Given the description of an element on the screen output the (x, y) to click on. 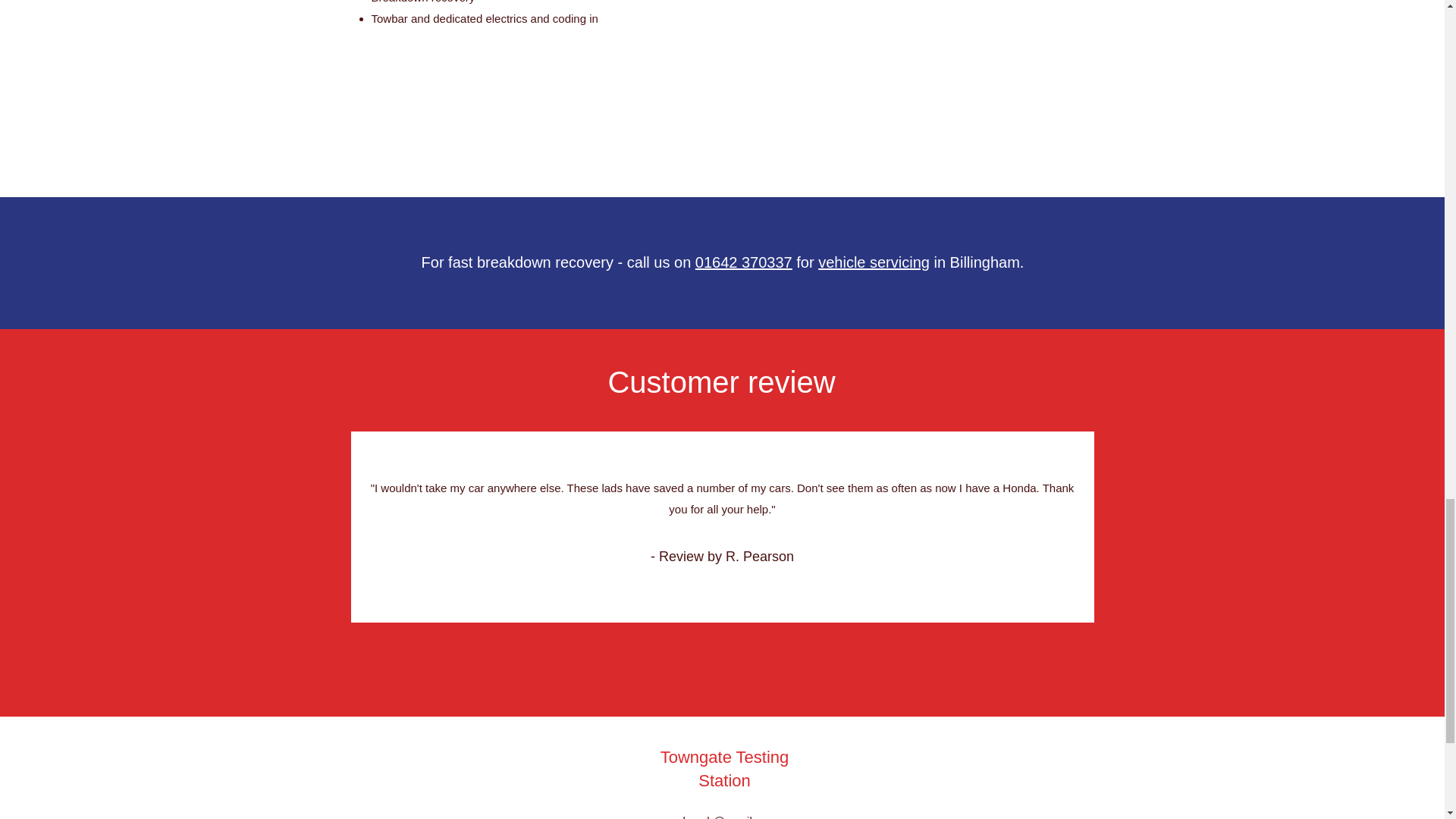
Towngate Testing Station (725, 768)
vehicle servicing (874, 262)
01642 370337 (743, 262)
